Given the description of an element on the screen output the (x, y) to click on. 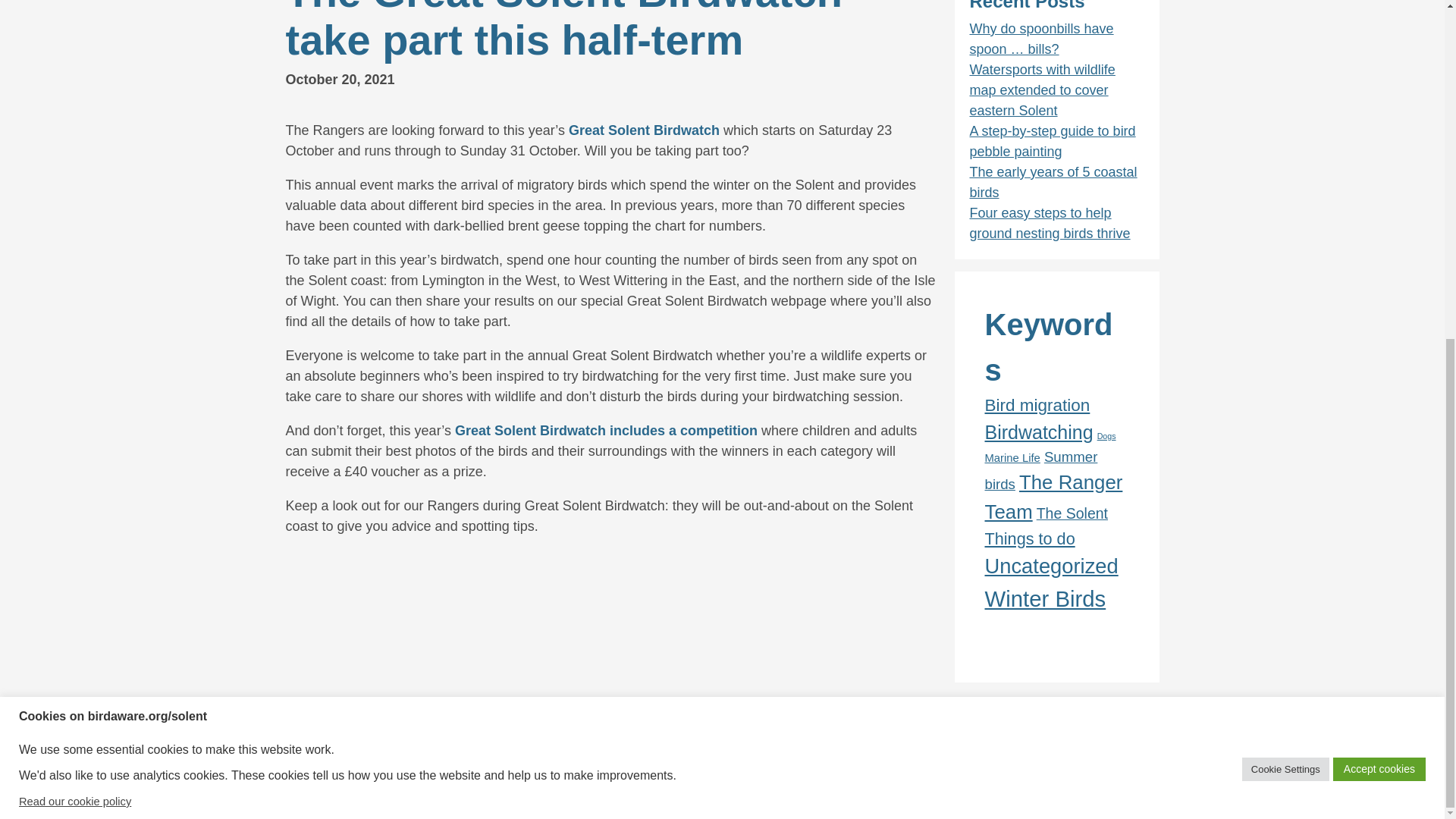
Great Solent Birdwatch includes a competition (605, 430)
Great Solent Birdwatch (644, 130)
The early years of 5 coastal birds (1053, 181)
A step-by-step guide to bird pebble painting (1052, 140)
